Given the description of an element on the screen output the (x, y) to click on. 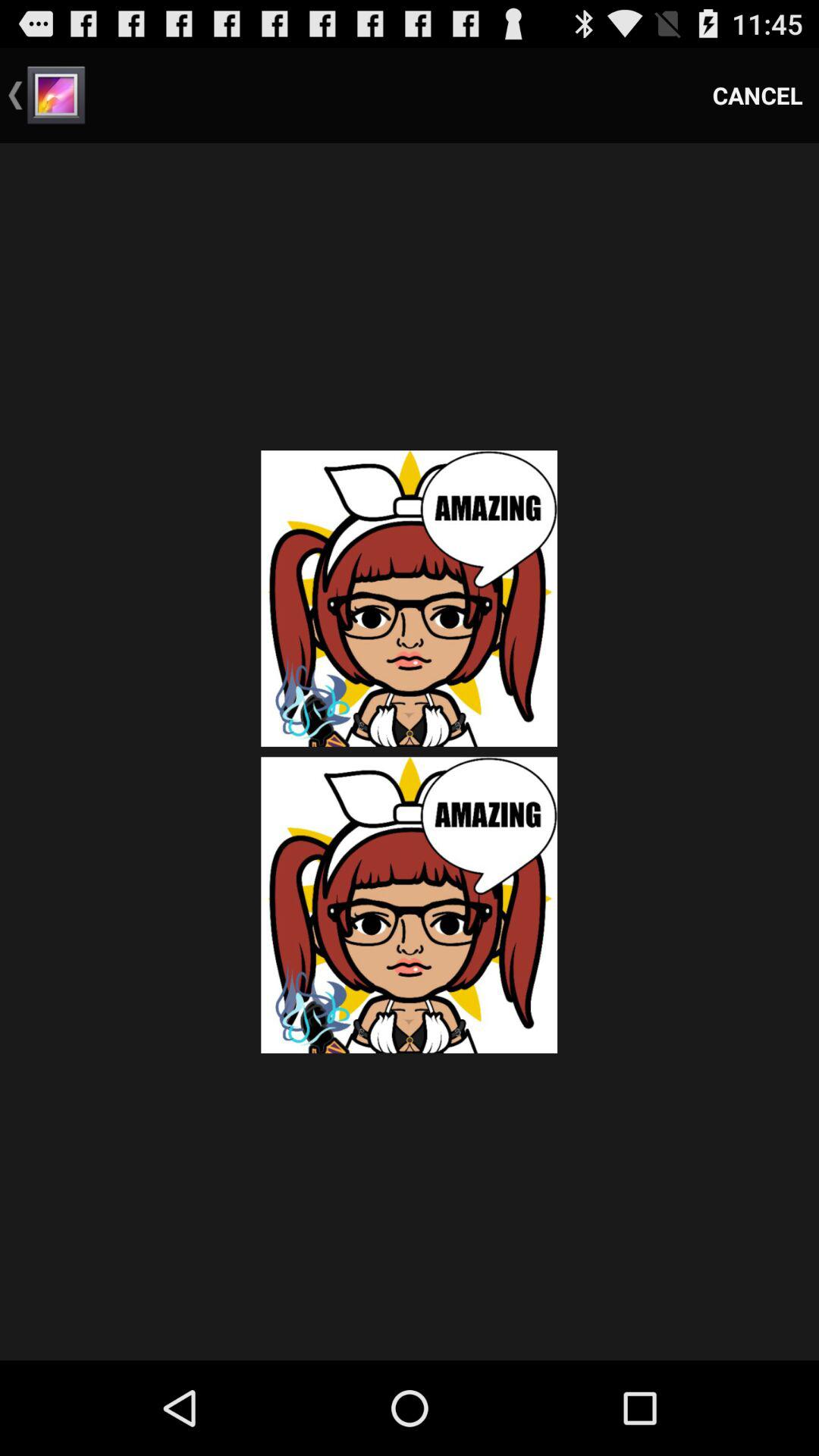
open cancel at the top right corner (757, 95)
